Given the description of an element on the screen output the (x, y) to click on. 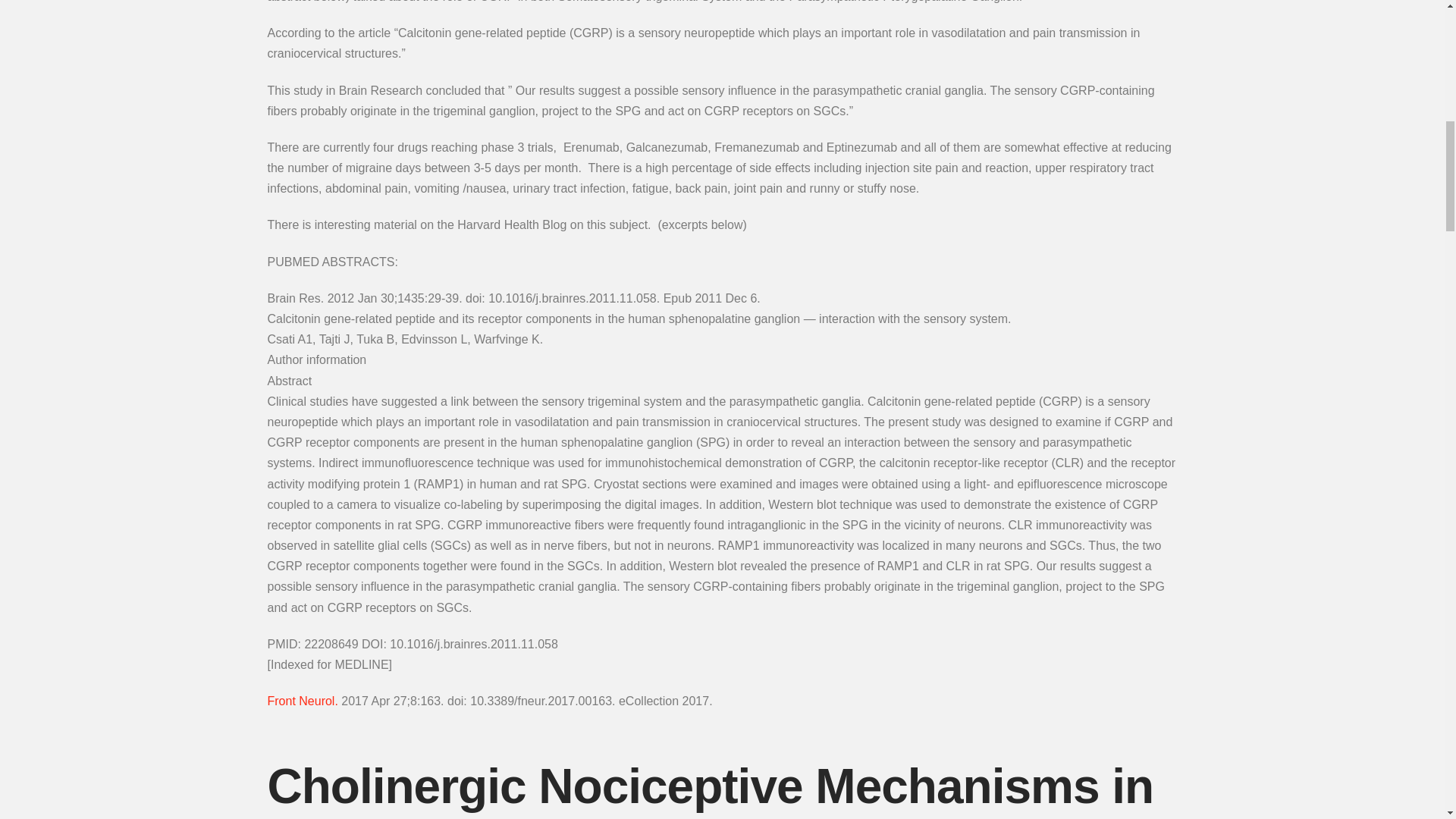
Frontiers in neurology. (301, 700)
